Given the description of an element on the screen output the (x, y) to click on. 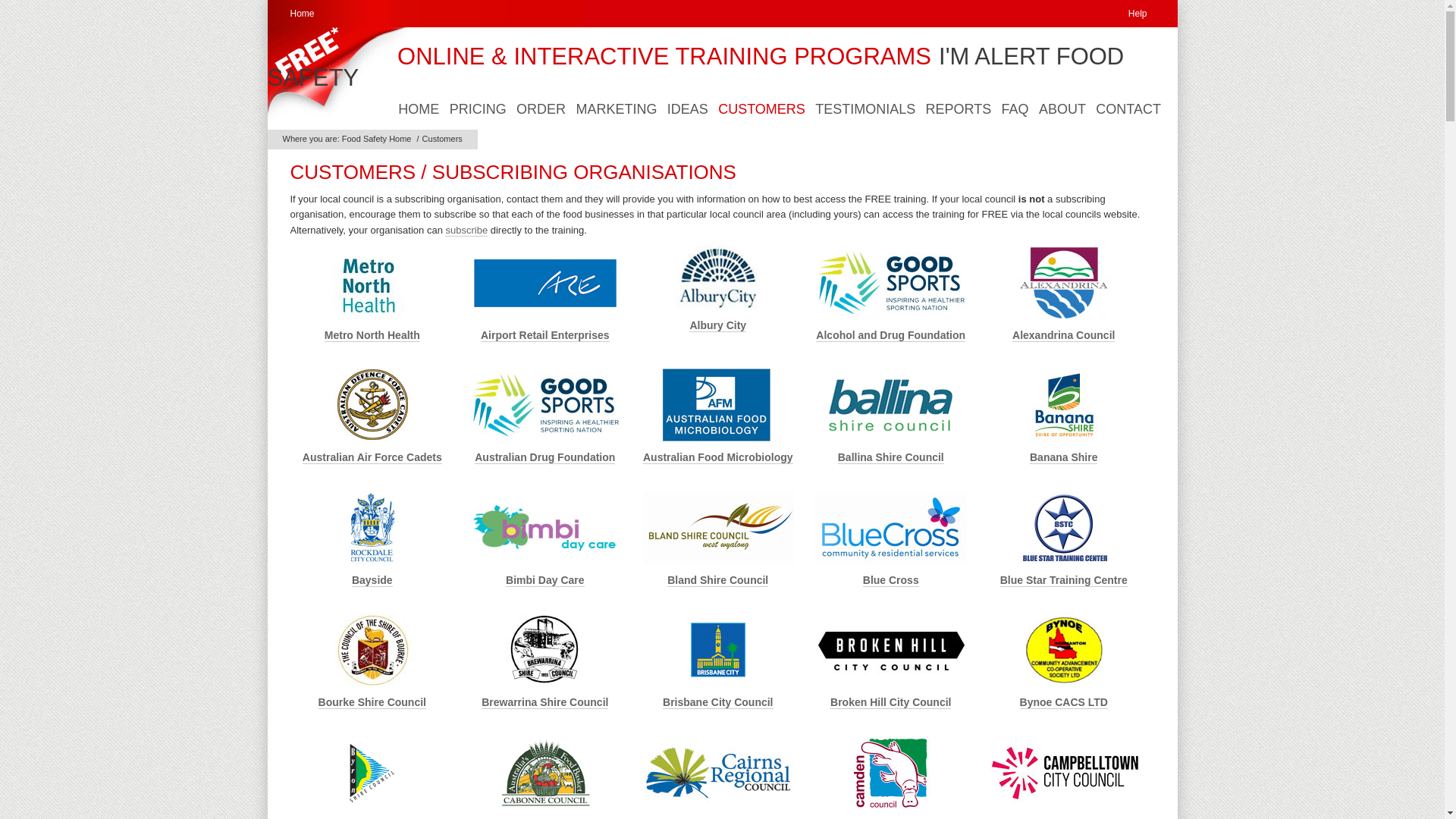
Blue Cross Element type: text (890, 580)
HOME Element type: text (418, 108)
TESTIMONIALS Element type: text (865, 108)
Food Safety Home Element type: text (376, 138)
Bland Shire Council Element type: text (717, 580)
Airport Retail Enterprises Element type: text (544, 335)
Brewarrina Shire Council Element type: text (544, 702)
PRICING Element type: text (477, 108)
Alcohol and Drug Foundation Element type: text (890, 335)
Bynoe CACS LTD Element type: text (1063, 702)
Bimbi Day Care Element type: text (544, 580)
CUSTOMERS Element type: text (761, 108)
Help Element type: text (1137, 13)
Home Element type: text (301, 13)
Alexandrina Council Element type: text (1063, 335)
Ballina Shire Council Element type: text (890, 457)
subscribe Element type: text (466, 230)
Metro North Health Element type: text (372, 335)
IDEAS Element type: text (687, 108)
Blue Star Training Centre Element type: text (1063, 580)
REPORTS Element type: text (958, 108)
Australian Air Force Cadets Element type: text (372, 457)
Australian Drug Foundation Element type: text (544, 457)
FAQ Element type: text (1014, 108)
Australian Food Microbiology Element type: text (718, 457)
Bourke Shire Council Element type: text (372, 702)
ORDER Element type: text (540, 108)
Albury City Element type: text (717, 325)
Broken Hill City Council Element type: text (890, 702)
MARKETING Element type: text (616, 108)
CONTACT Element type: text (1128, 108)
Brisbane City Council Element type: text (717, 702)
ABOUT Element type: text (1062, 108)
Bayside Element type: text (371, 580)
Banana Shire Element type: text (1063, 457)
